Given the description of an element on the screen output the (x, y) to click on. 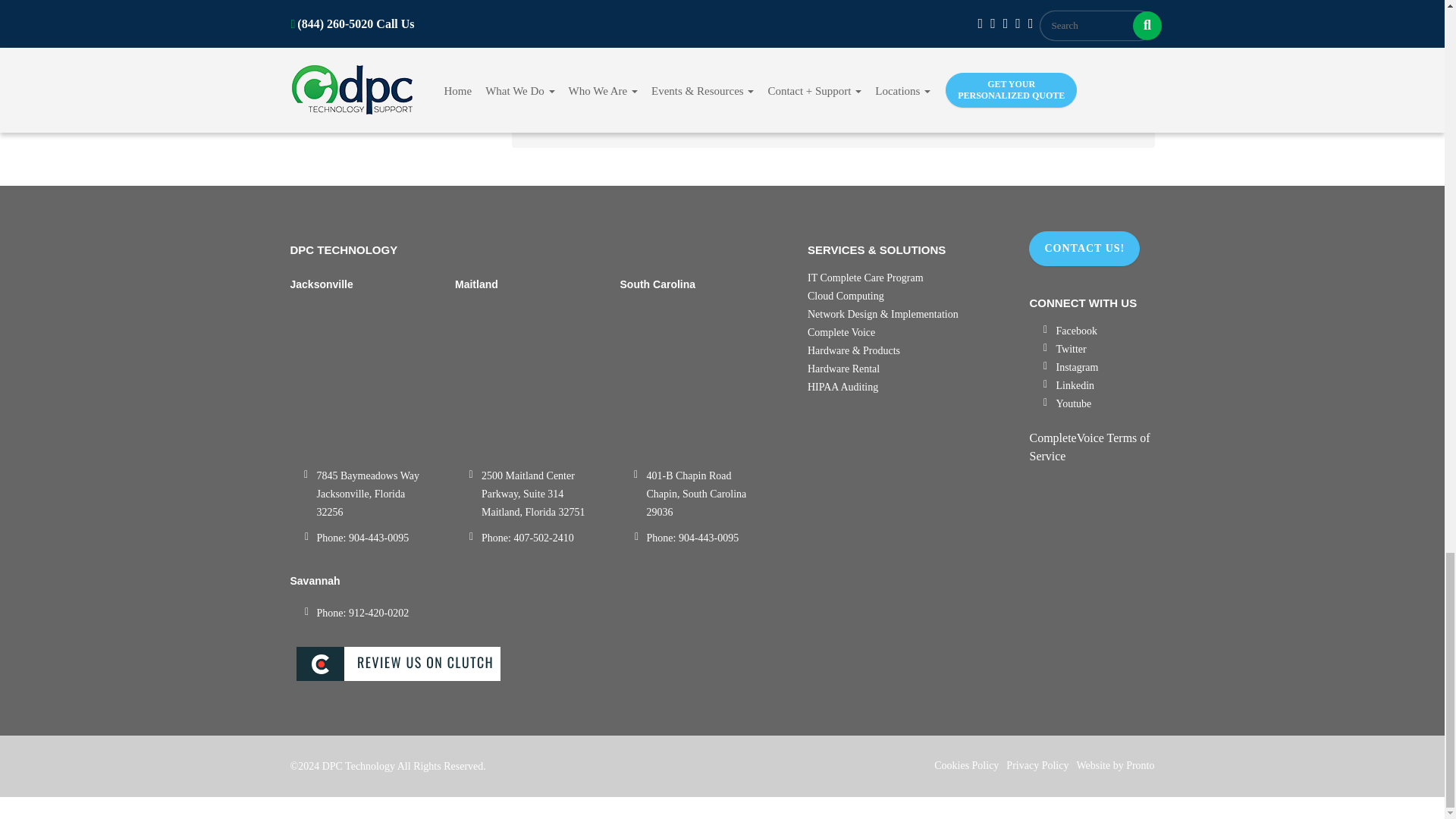
DPC Technology Clutch Review Widget 7 (536, 665)
